Given the description of an element on the screen output the (x, y) to click on. 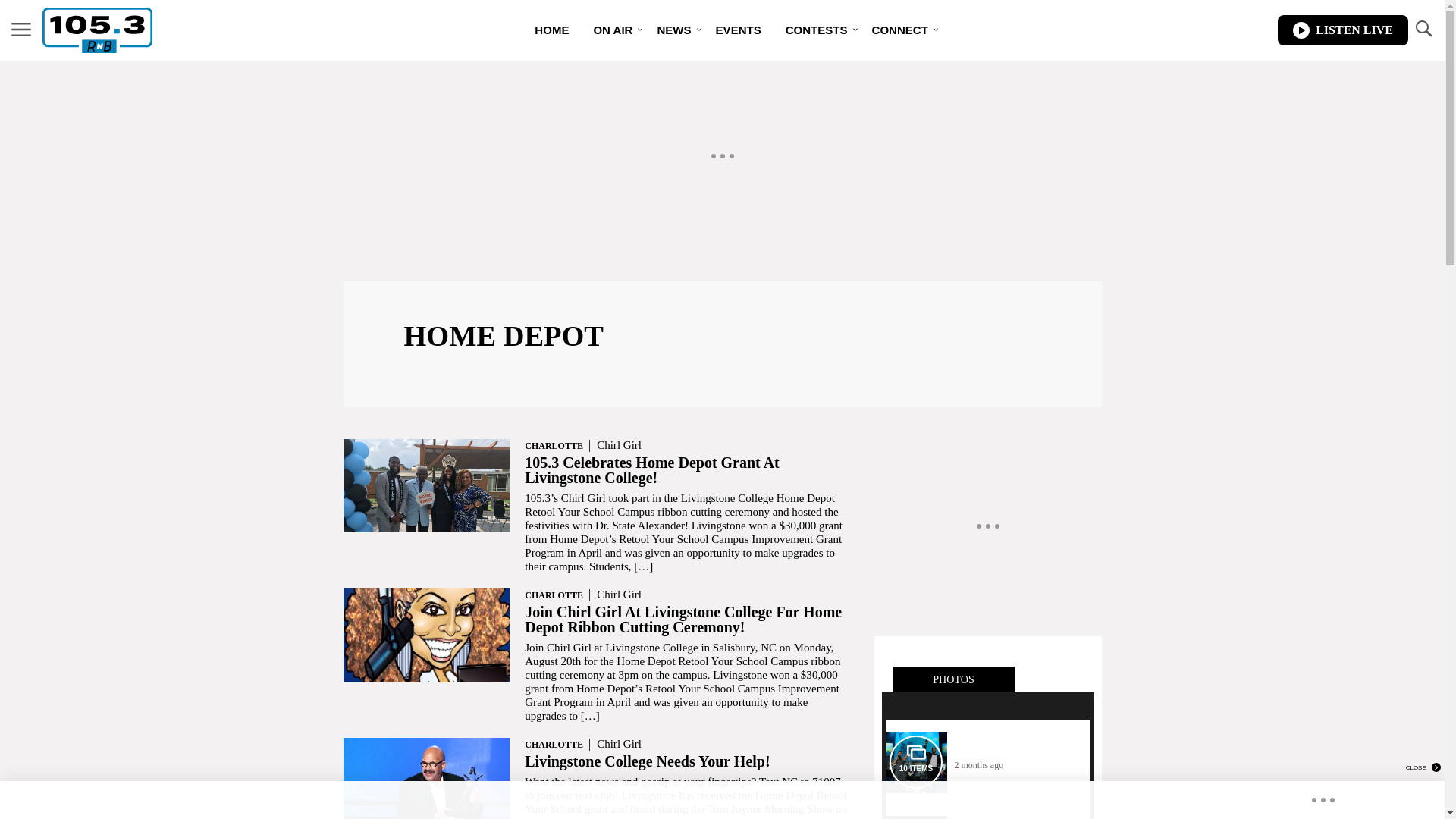
NEWS Element type: text (673, 29)
Livingstone College Needs Your Help! Element type: text (646, 761)
Chirl Girl Element type: text (618, 743)
CHARLOTTE Element type: text (553, 594)
CHARLOTTE Element type: text (553, 445)
CONTESTS Element type: text (816, 29)
TOGGLE SEARCH Element type: text (1423, 30)
ON AIR Element type: text (612, 29)
CONNECT Element type: text (899, 29)
EVENTS Element type: text (738, 29)
Chirl Girl Element type: text (618, 594)
105.3 Celebrates Home Depot Grant At Livingstone College! Element type: text (651, 470)
MENU Element type: text (21, 30)
LISTEN LIVE Element type: text (1342, 30)
CHARLOTTE Element type: text (553, 744)
HOME Element type: text (551, 29)
Chirl Girl Element type: text (618, 445)
